Given the description of an element on the screen output the (x, y) to click on. 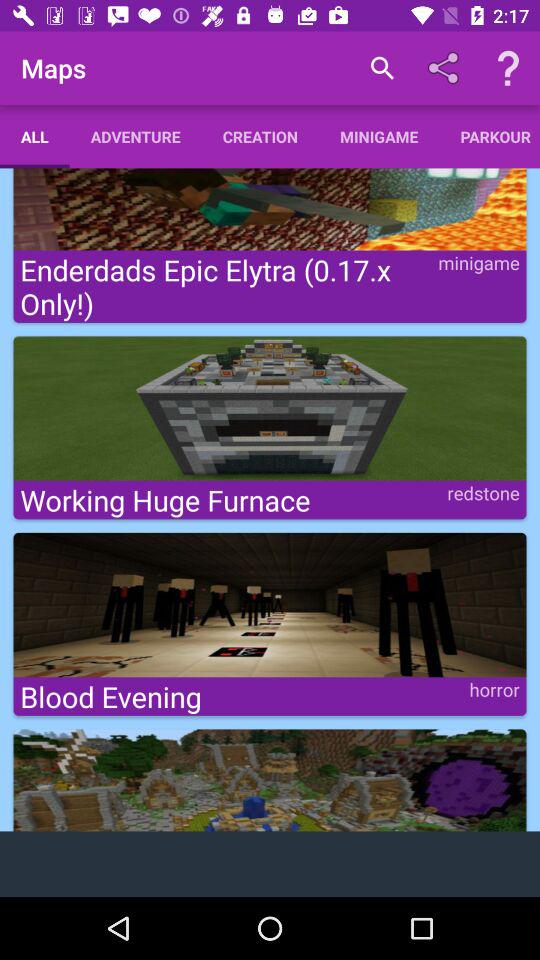
open item below the maps icon (135, 136)
